Given the description of an element on the screen output the (x, y) to click on. 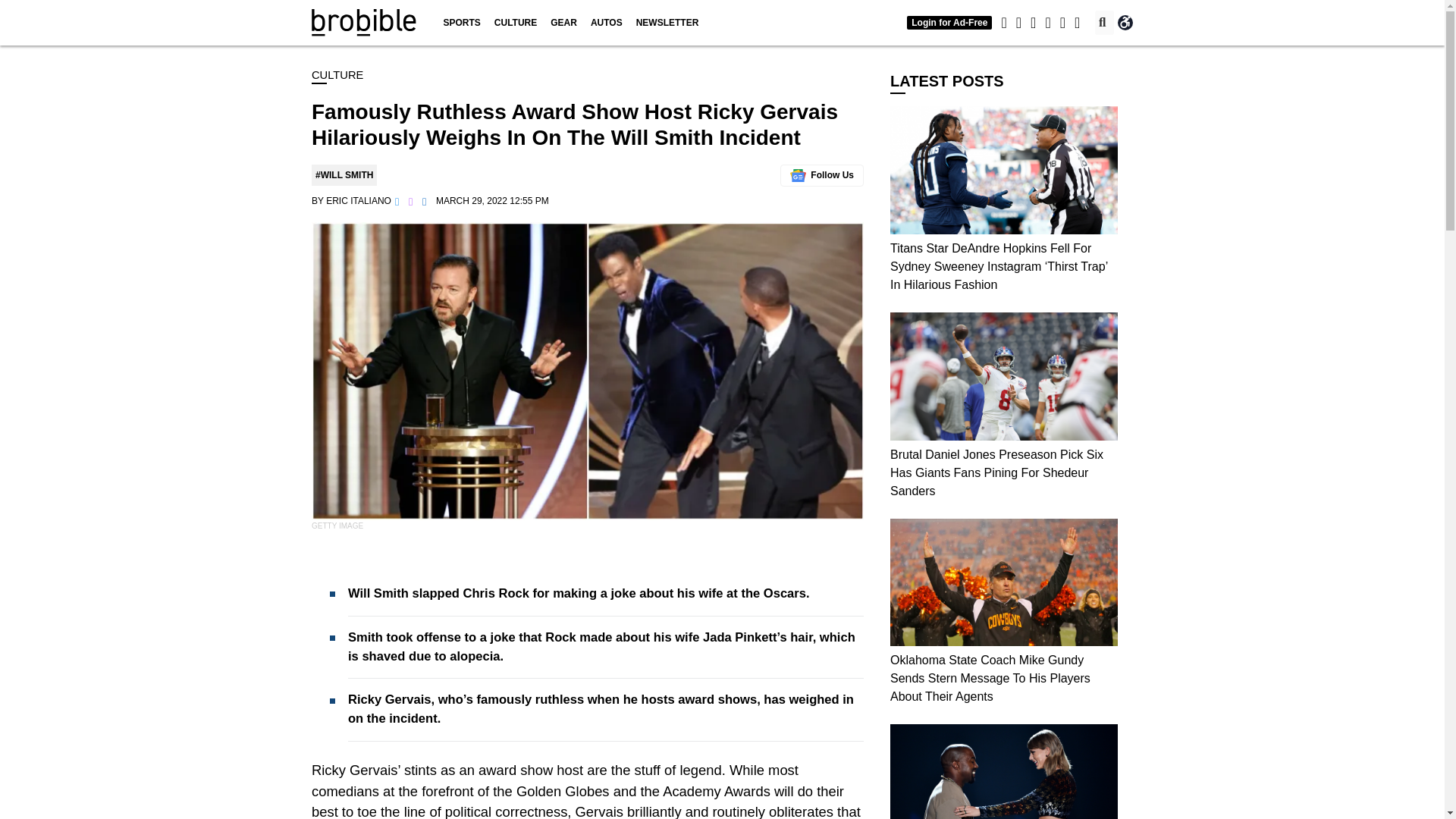
SPORTS (460, 22)
Follow us on Google News (821, 175)
CULTURE (515, 22)
Login for Ad-Free (949, 22)
Accessibility (1125, 22)
Posts by Eric Italiano (358, 200)
